Given the description of an element on the screen output the (x, y) to click on. 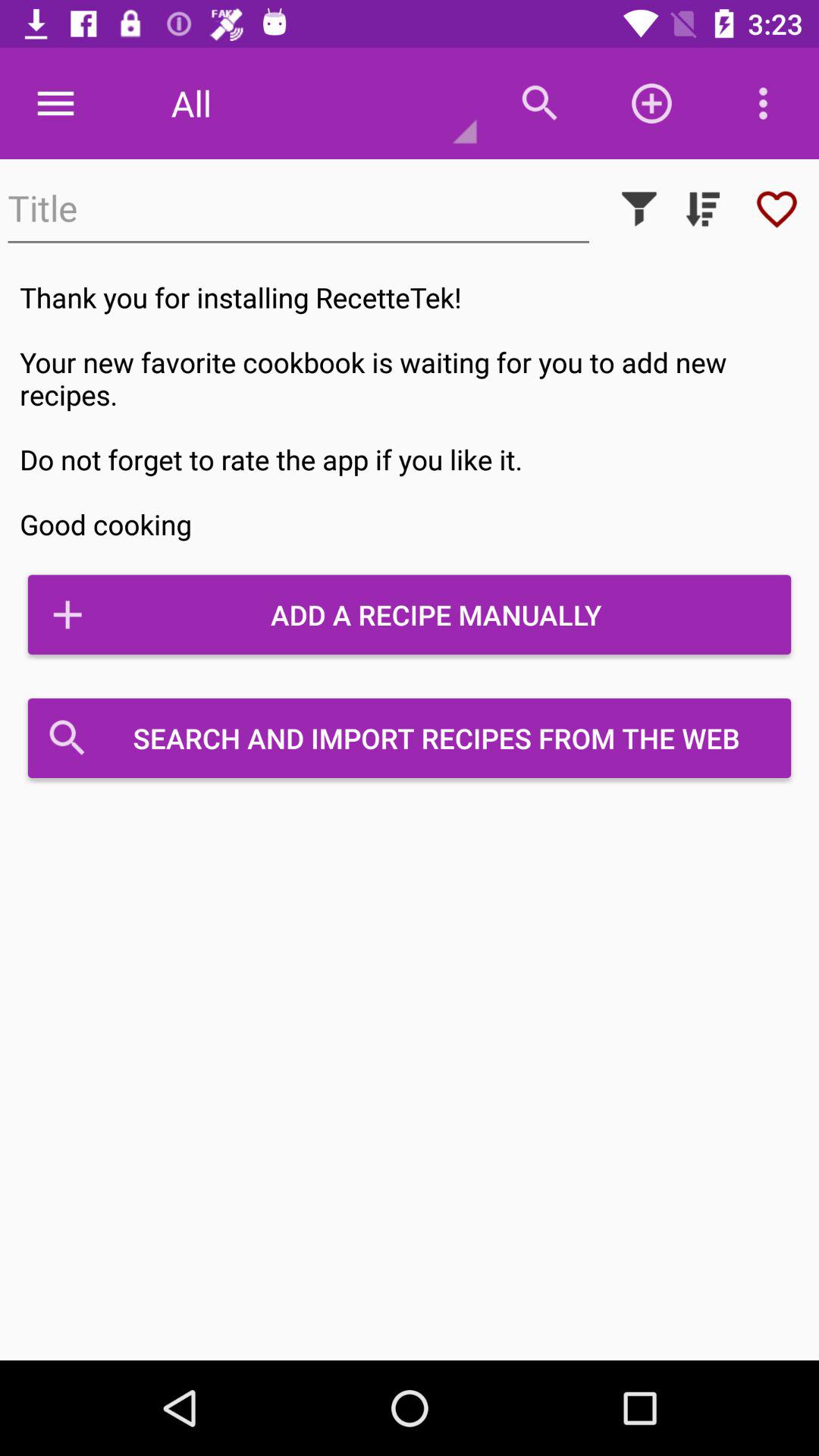
press the icon above the thank you for icon (702, 208)
